Given the description of an element on the screen output the (x, y) to click on. 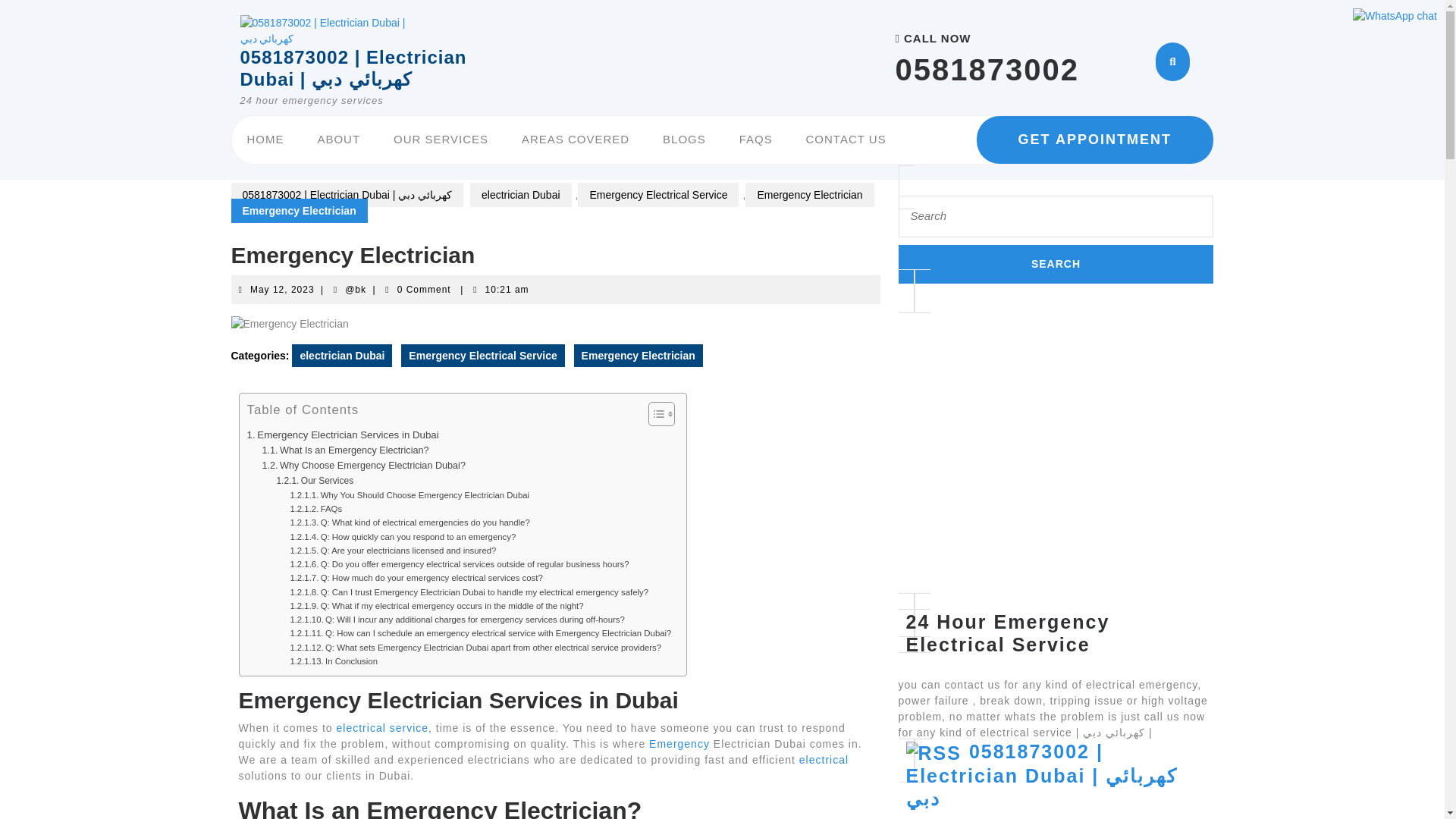
Search (1055, 263)
Our Services (314, 481)
What Is an Emergency Electrician? (345, 450)
HOME (265, 140)
Q: How much do your emergency electrical services cost? (415, 577)
Q: Are your electricians licensed and insured? (392, 550)
Emergency Electrician Services in Dubai (343, 434)
OUR SERVICES (440, 140)
Q: What kind of electrical emergencies do you handle? (409, 522)
